Given the description of an element on the screen output the (x, y) to click on. 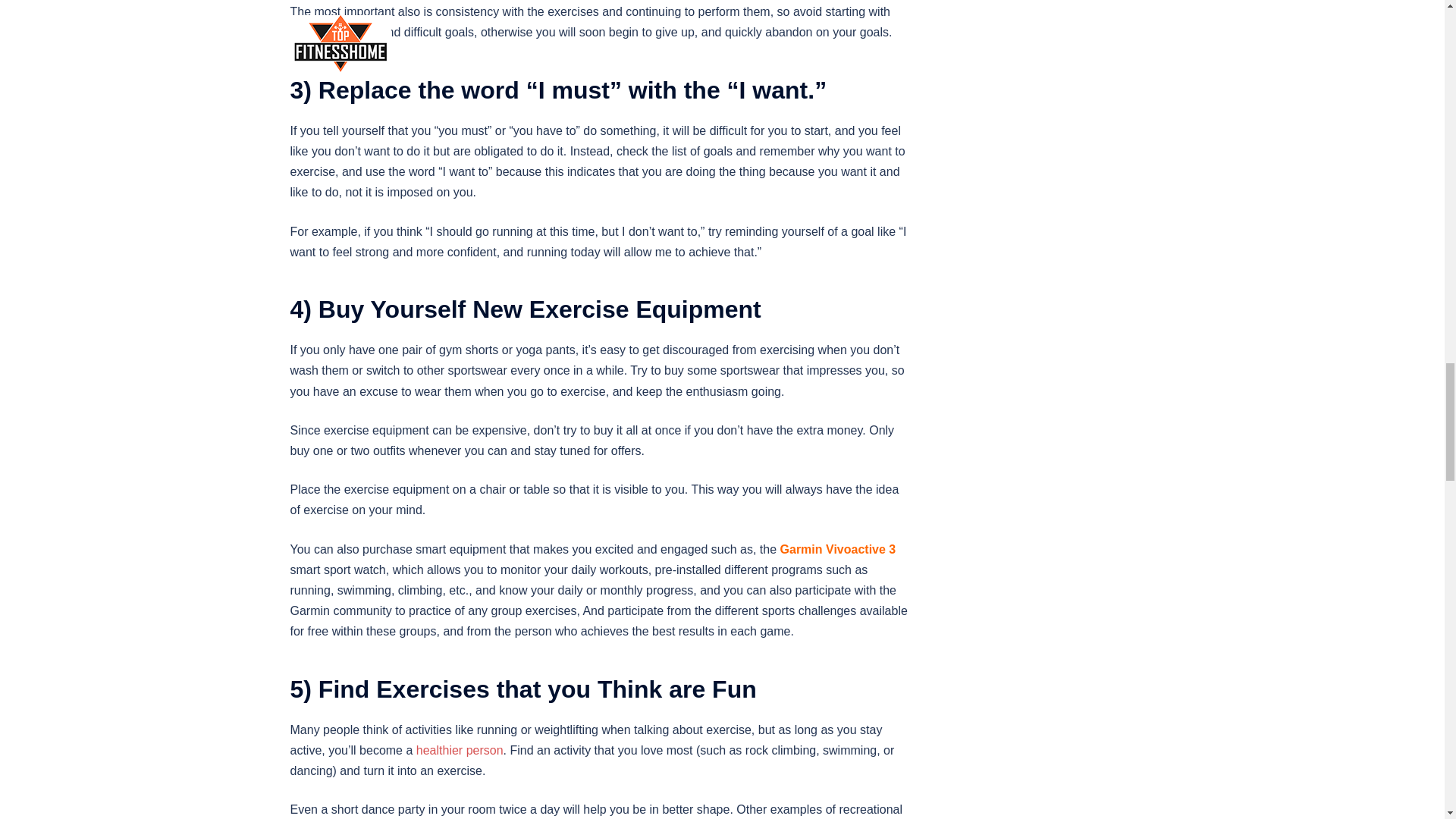
Garmin Vivoactive 3 (838, 549)
healthier person (459, 749)
